Given the description of an element on the screen output the (x, y) to click on. 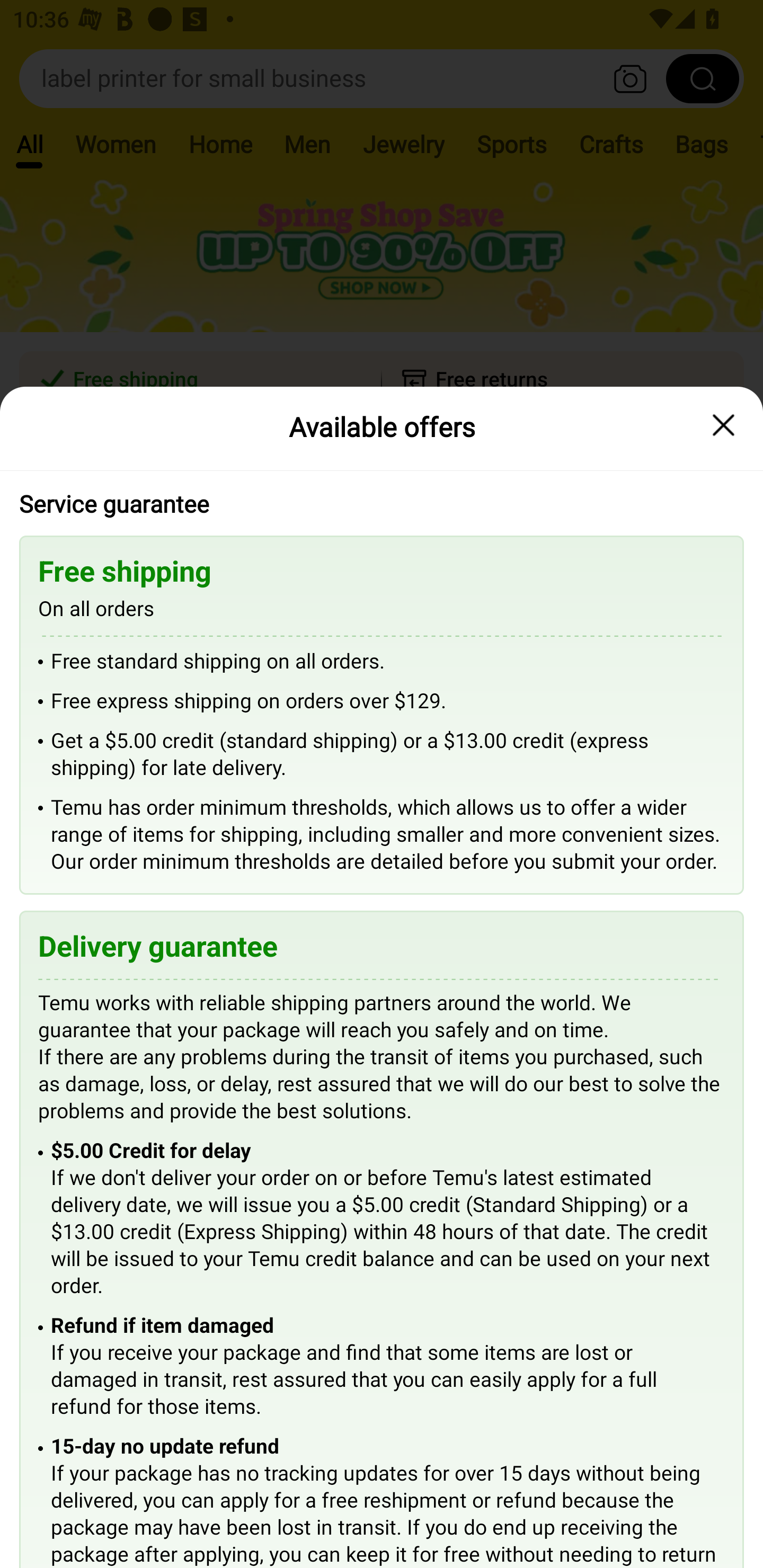
Lightning deals (379, 524)
